Given the description of an element on the screen output the (x, y) to click on. 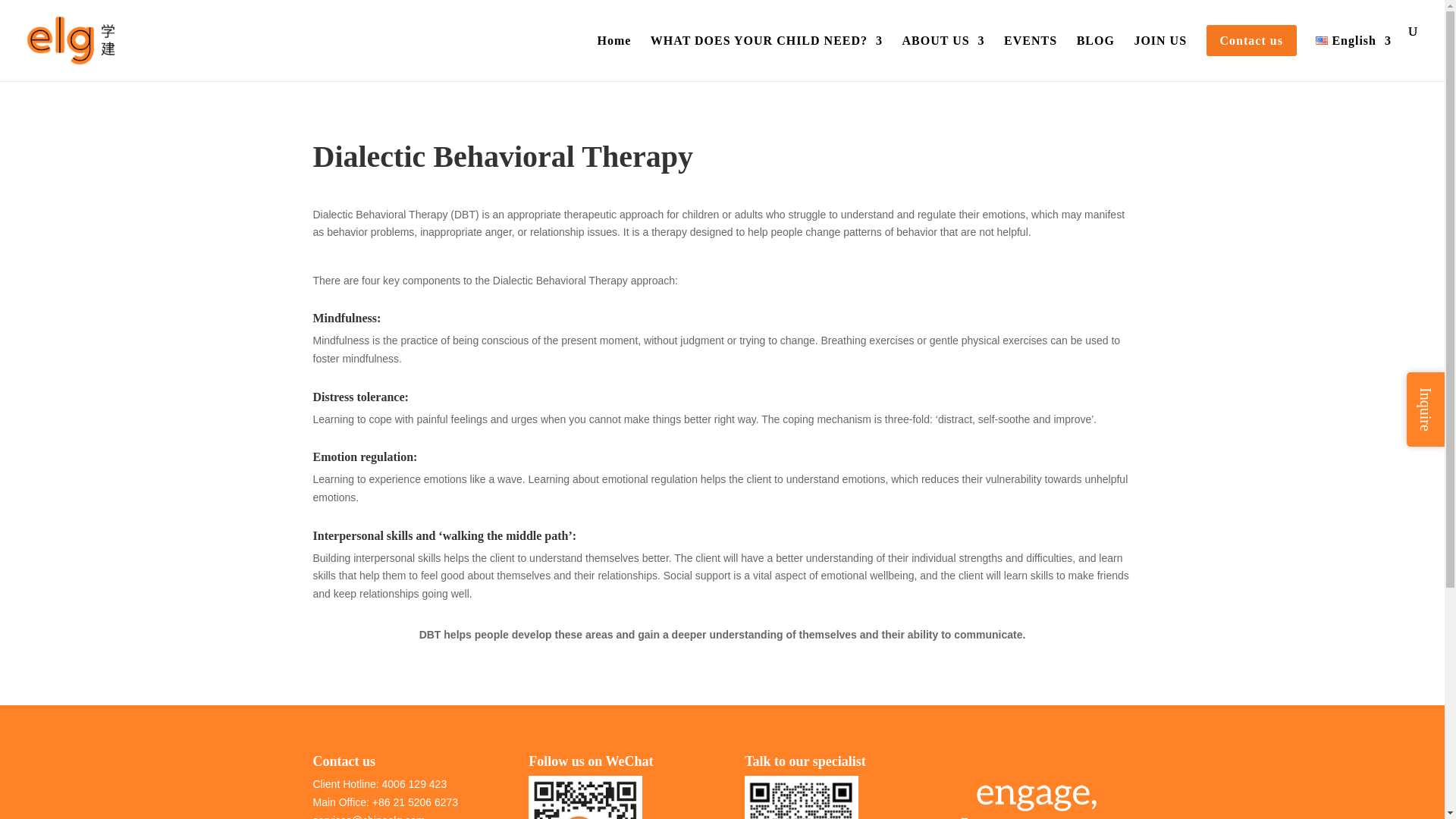
Contact us (1252, 53)
JOIN US (1160, 53)
WHAT DOES YOUR CHILD NEED? (766, 53)
BLOG (1096, 53)
Followe us on WeChat (585, 797)
English (1321, 40)
EVENTS (1030, 53)
Home (613, 53)
ABOUT US (943, 53)
Talk to our specialist (801, 797)
 English (1353, 53)
